Given the description of an element on the screen output the (x, y) to click on. 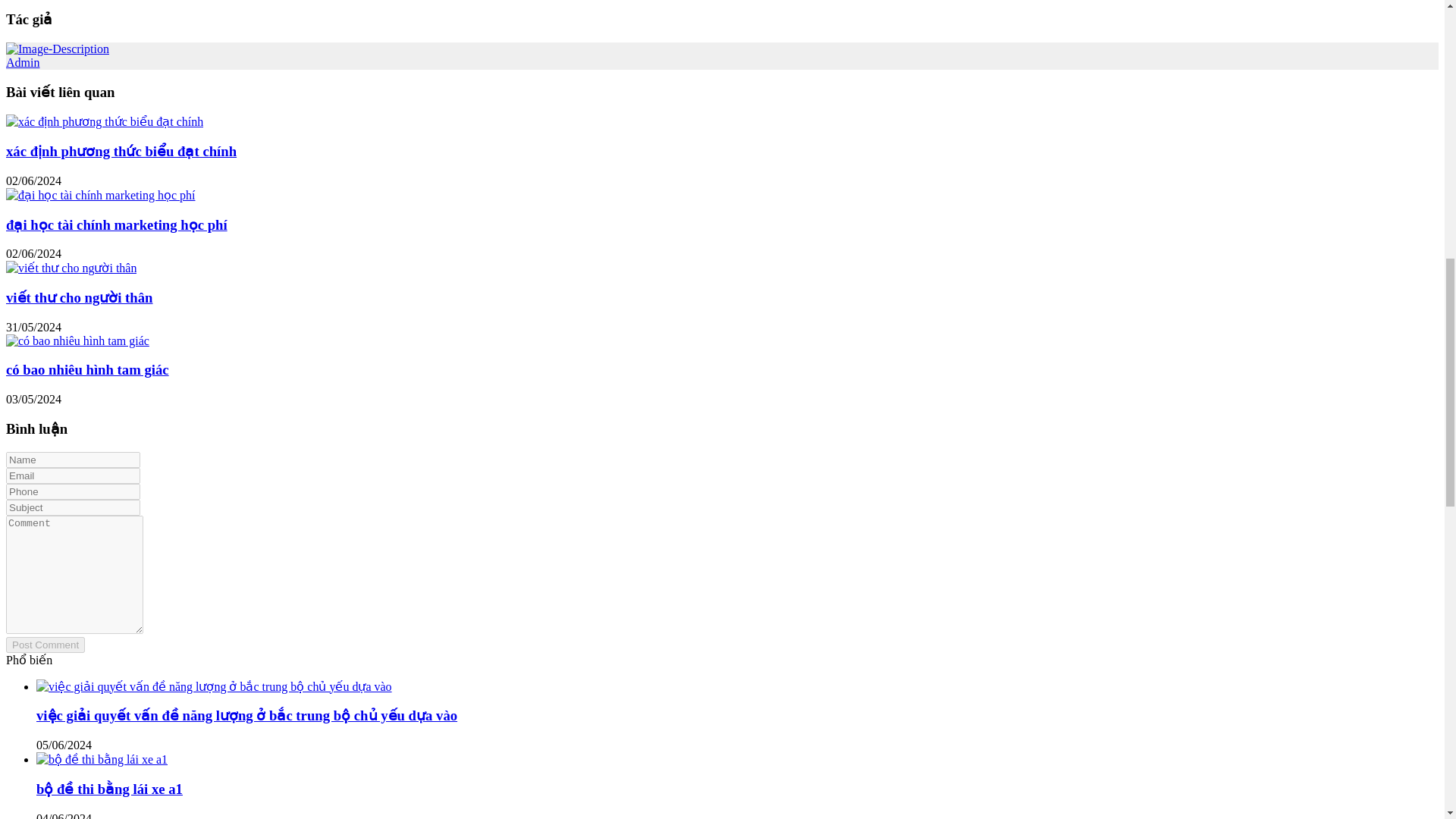
Post Comment (44, 644)
Admin (22, 62)
